Given the description of an element on the screen output the (x, y) to click on. 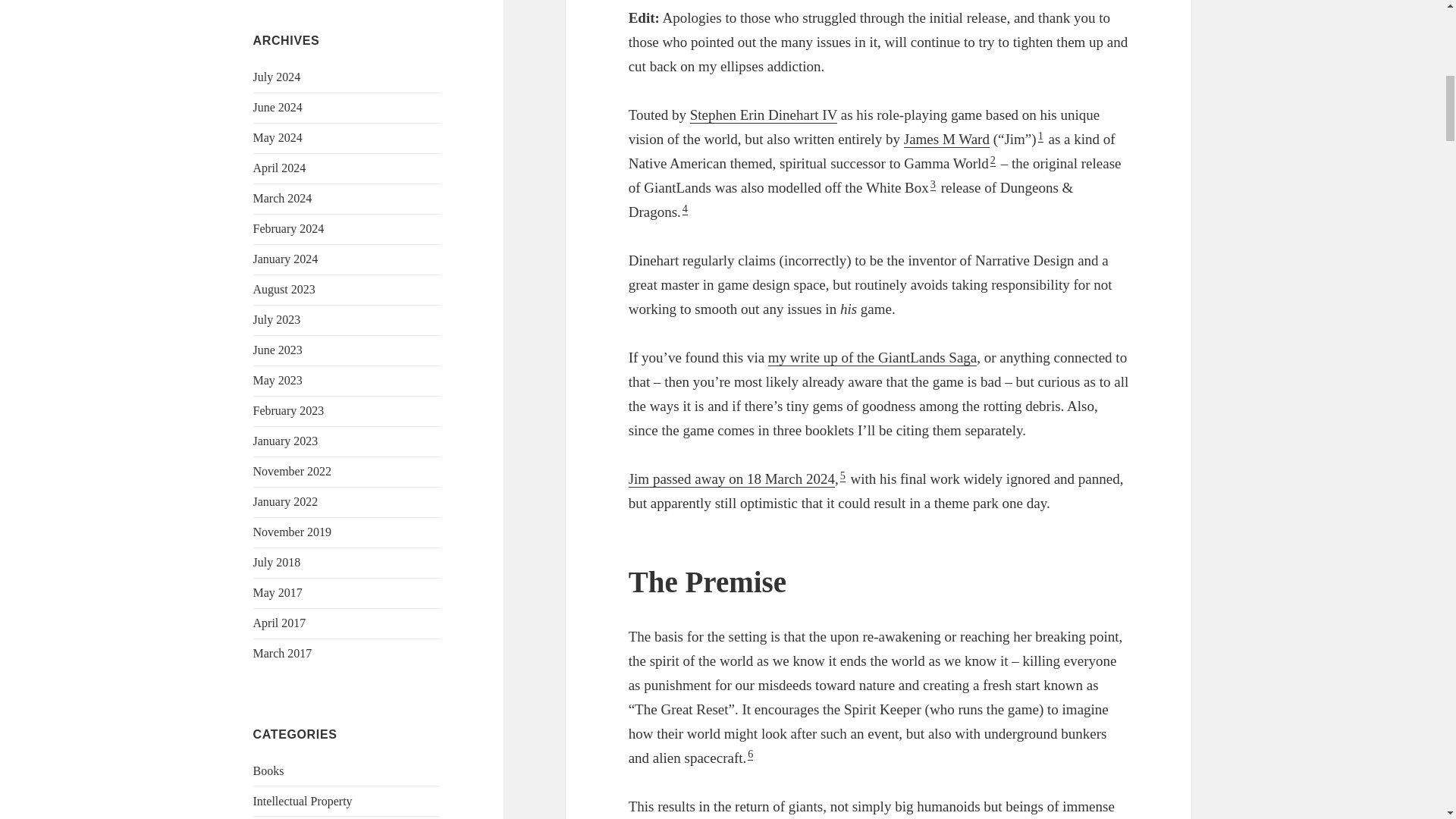
April 2024 (279, 167)
May 2024 (277, 137)
January 2022 (285, 501)
May 2017 (277, 592)
February 2024 (288, 228)
June 2023 (277, 349)
February 2023 (288, 410)
July 2018 (277, 562)
Intellectual Property (302, 800)
March 2024 (283, 197)
June 2024 (277, 106)
November 2022 (292, 471)
January 2024 (285, 258)
July 2023 (277, 318)
August 2023 (284, 288)
